Given the description of an element on the screen output the (x, y) to click on. 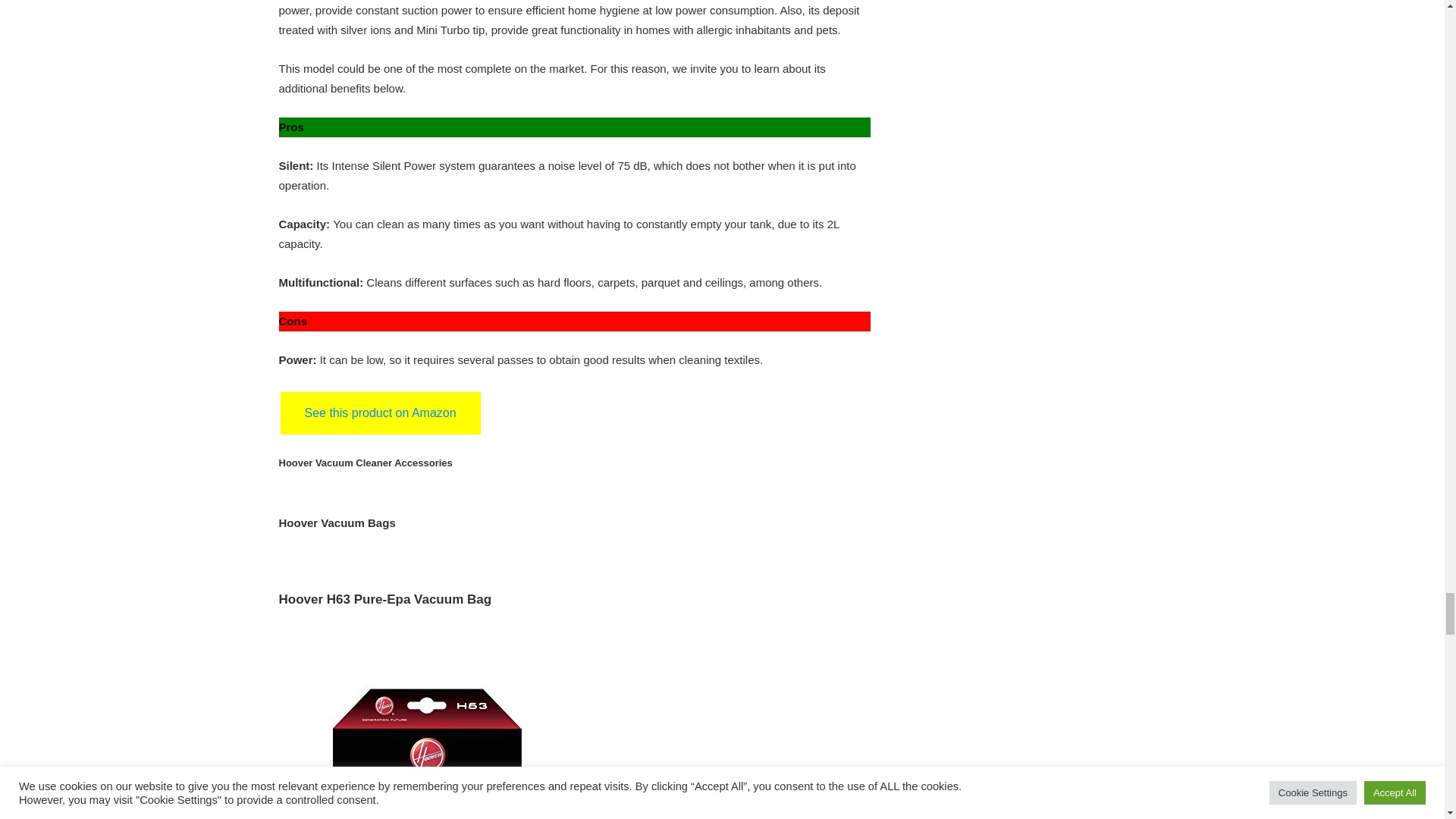
See this product on Amazon (380, 413)
